Given the description of an element on the screen output the (x, y) to click on. 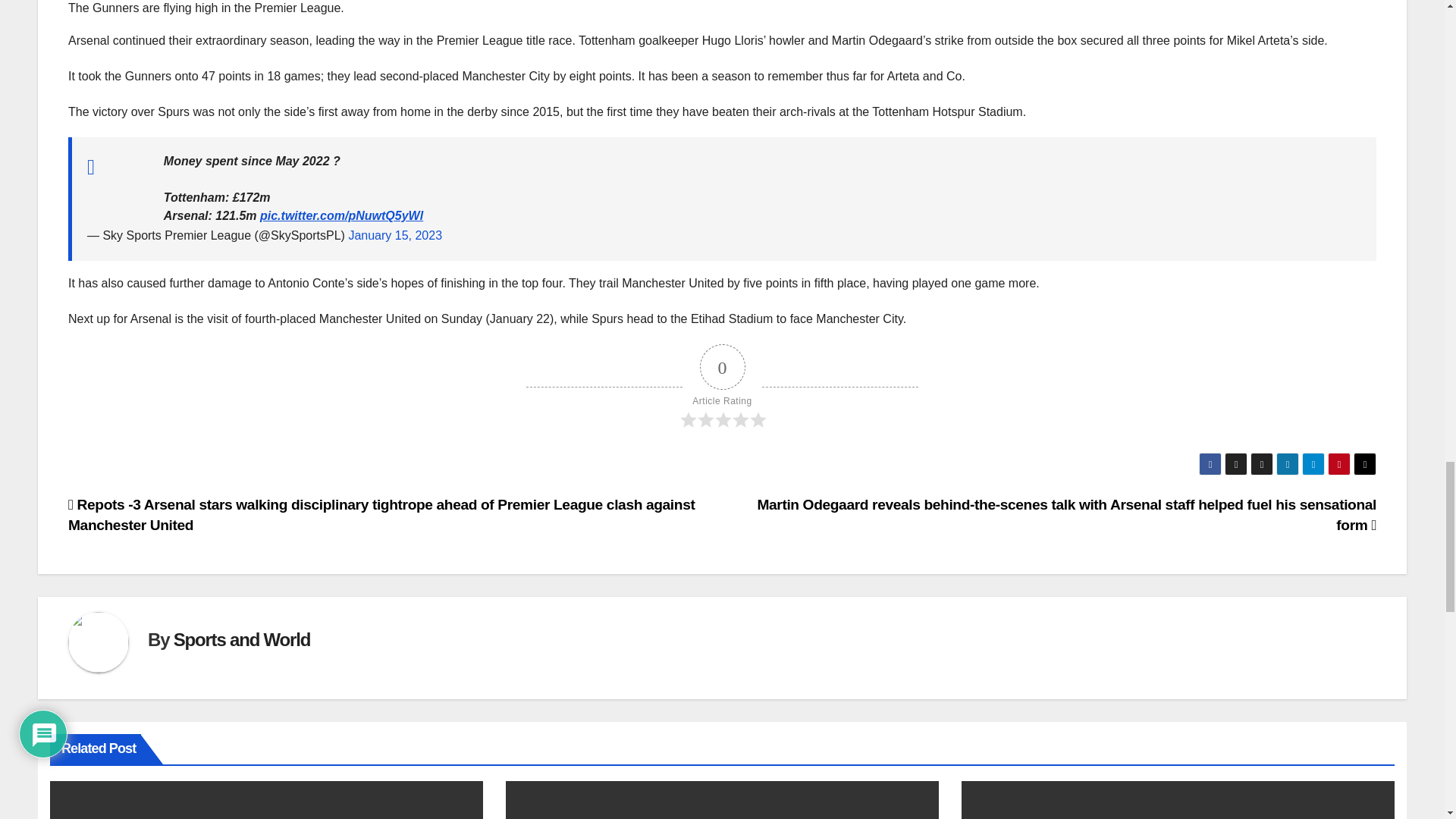
January 15, 2023 (394, 235)
